Given the description of an element on the screen output the (x, y) to click on. 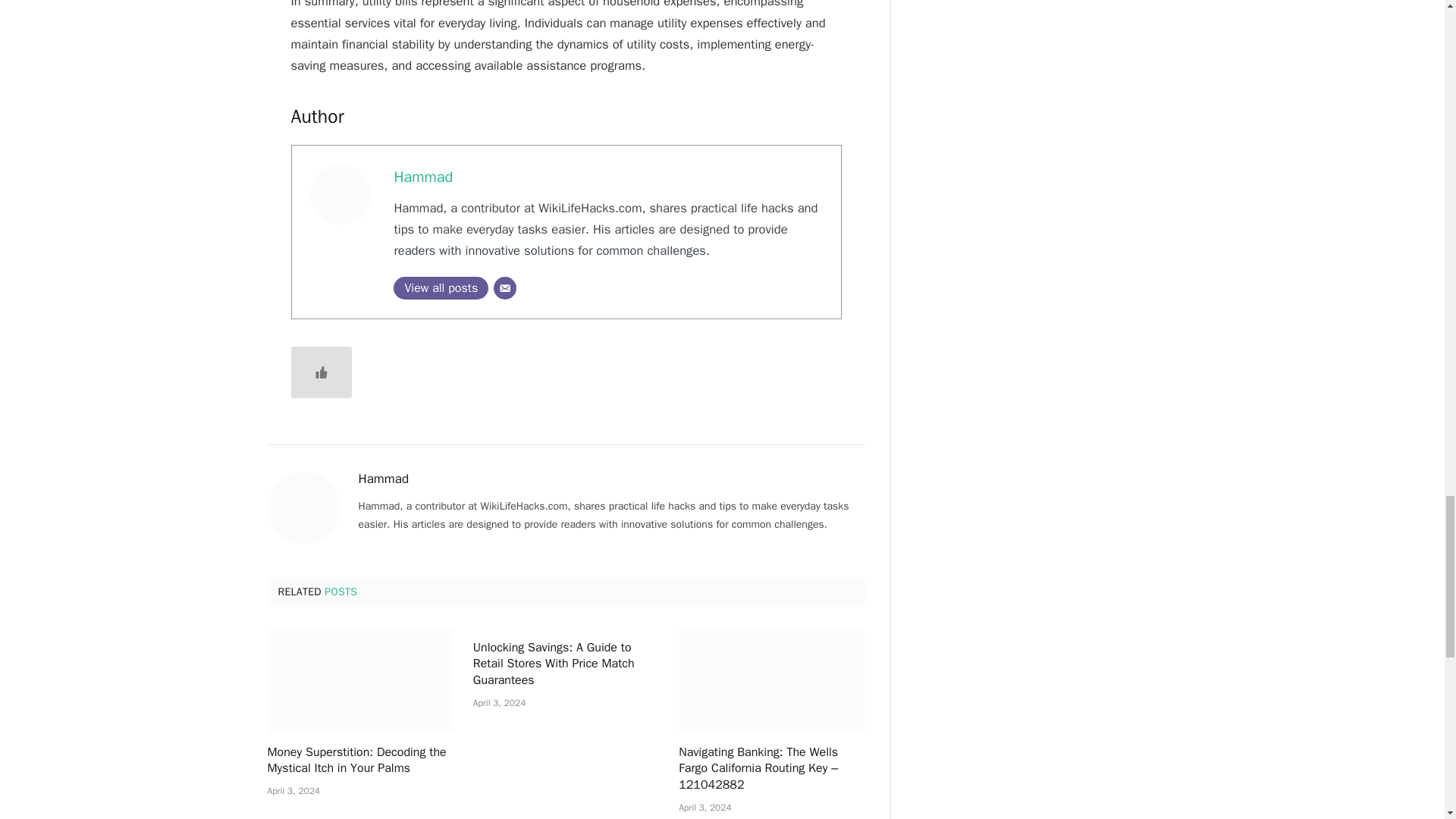
Hammad (383, 478)
Money Superstition: Decoding the Mystical Itch in Your Palms (359, 680)
Money Superstition: Decoding the Mystical Itch in Your Palms (359, 761)
Hammad (422, 176)
Posts by Hammad (383, 478)
Hammad (422, 176)
View all posts (440, 287)
View all posts (440, 287)
